Given the description of an element on the screen output the (x, y) to click on. 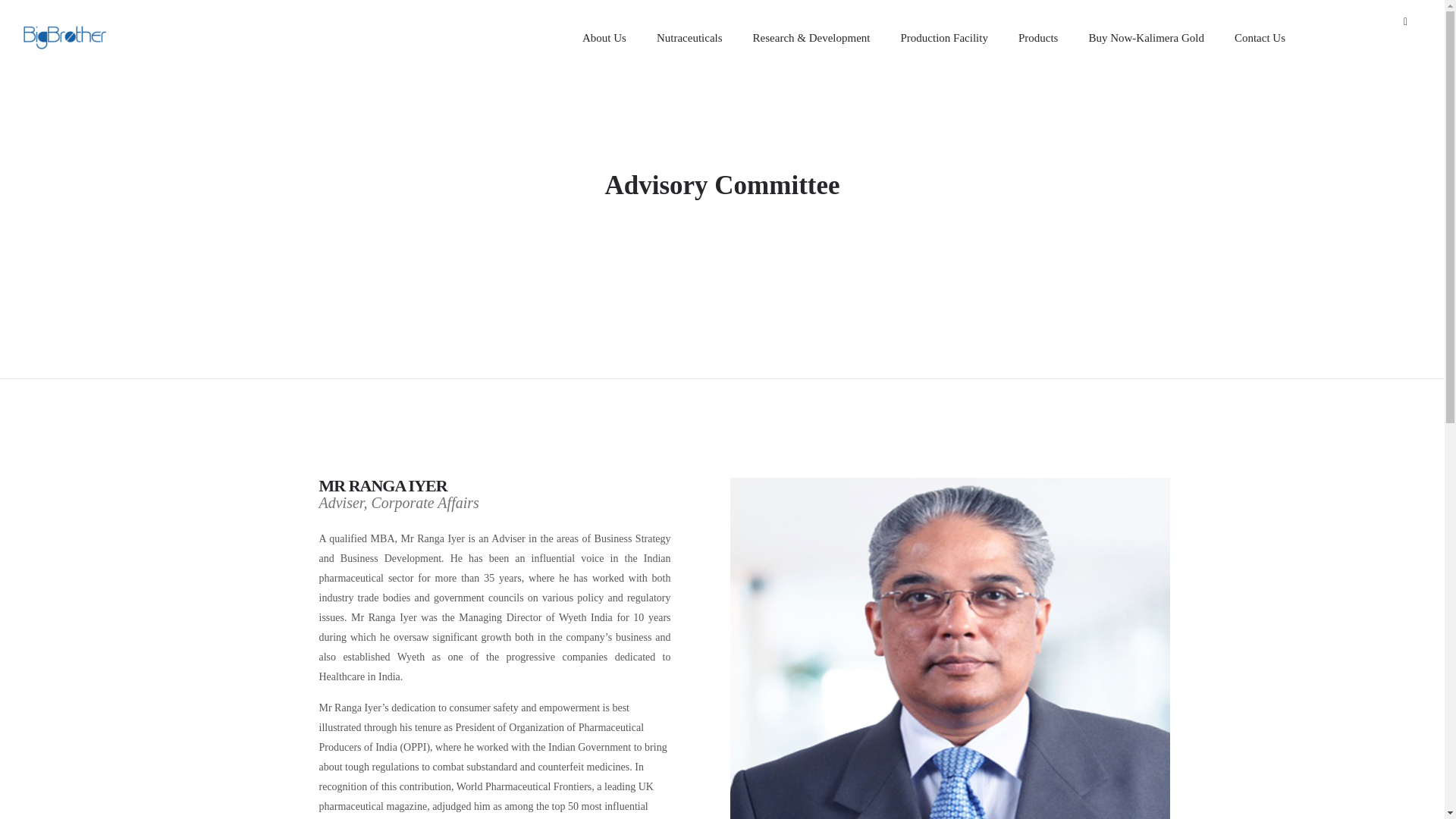
Contact Us (1260, 37)
Buy Now-Kalimera Gold (1145, 37)
Production Facility (944, 37)
About Us (604, 37)
Nutraceuticals (690, 37)
Products (1038, 37)
